Given the description of an element on the screen output the (x, y) to click on. 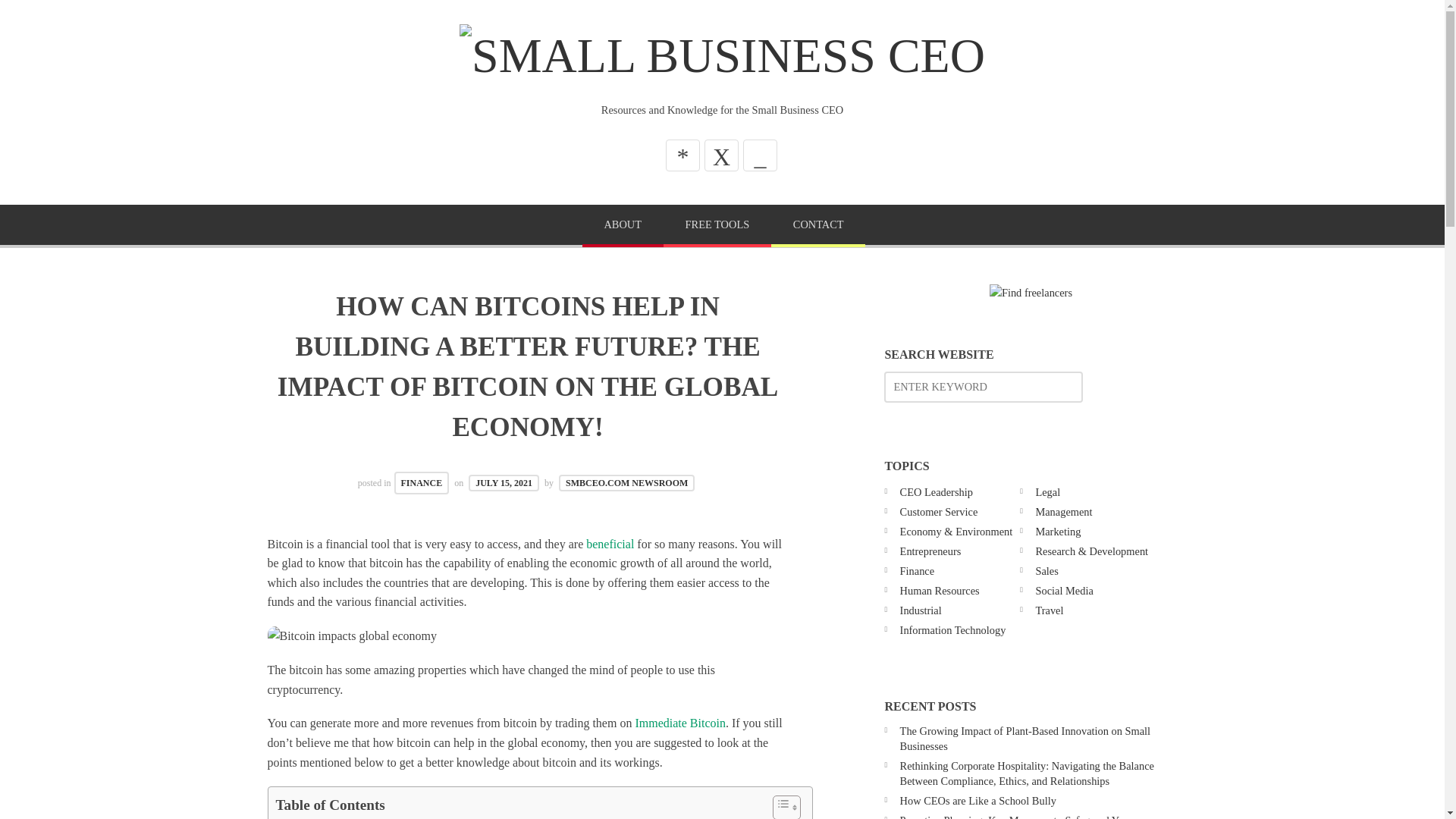
CEO Leadership (935, 491)
X (721, 155)
5:51 am (503, 483)
SMBCEO.COM NEWSROOM (626, 483)
FREE TOOLS (717, 225)
ABOUT (622, 225)
JULY 15, 2021 (503, 483)
CONTACT (817, 225)
Search (45, 16)
Customer Service (938, 511)
